Given the description of an element on the screen output the (x, y) to click on. 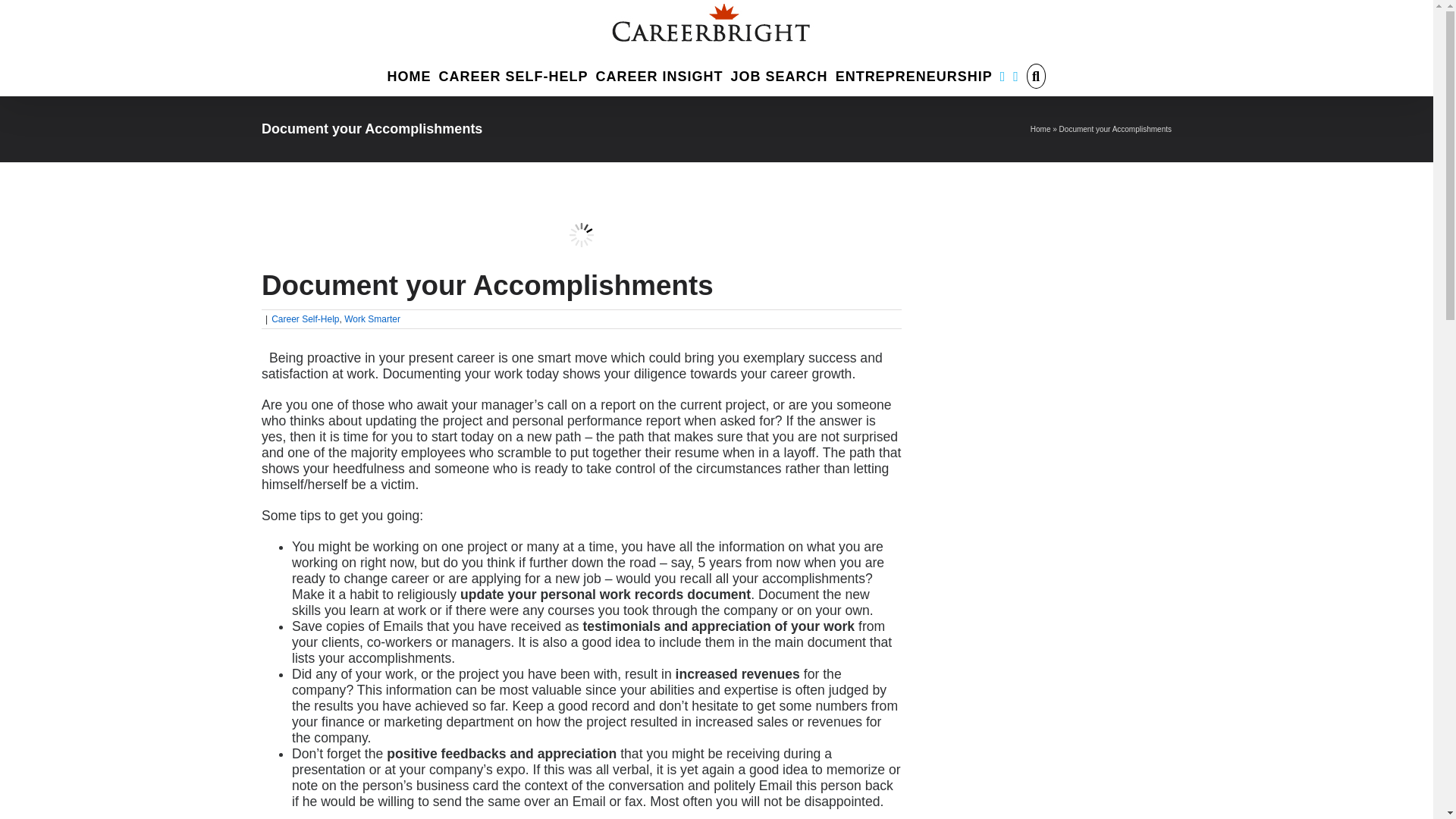
Home (1040, 129)
JOB SEARCH (779, 74)
ENTREPRENEURSHIP (913, 74)
Work Smarter (371, 318)
Career Self-Help (304, 318)
Advertisement (1067, 773)
HOME (408, 74)
CAREER SELF-HELP (513, 74)
CAREER INSIGHT (659, 74)
